Given the description of an element on the screen output the (x, y) to click on. 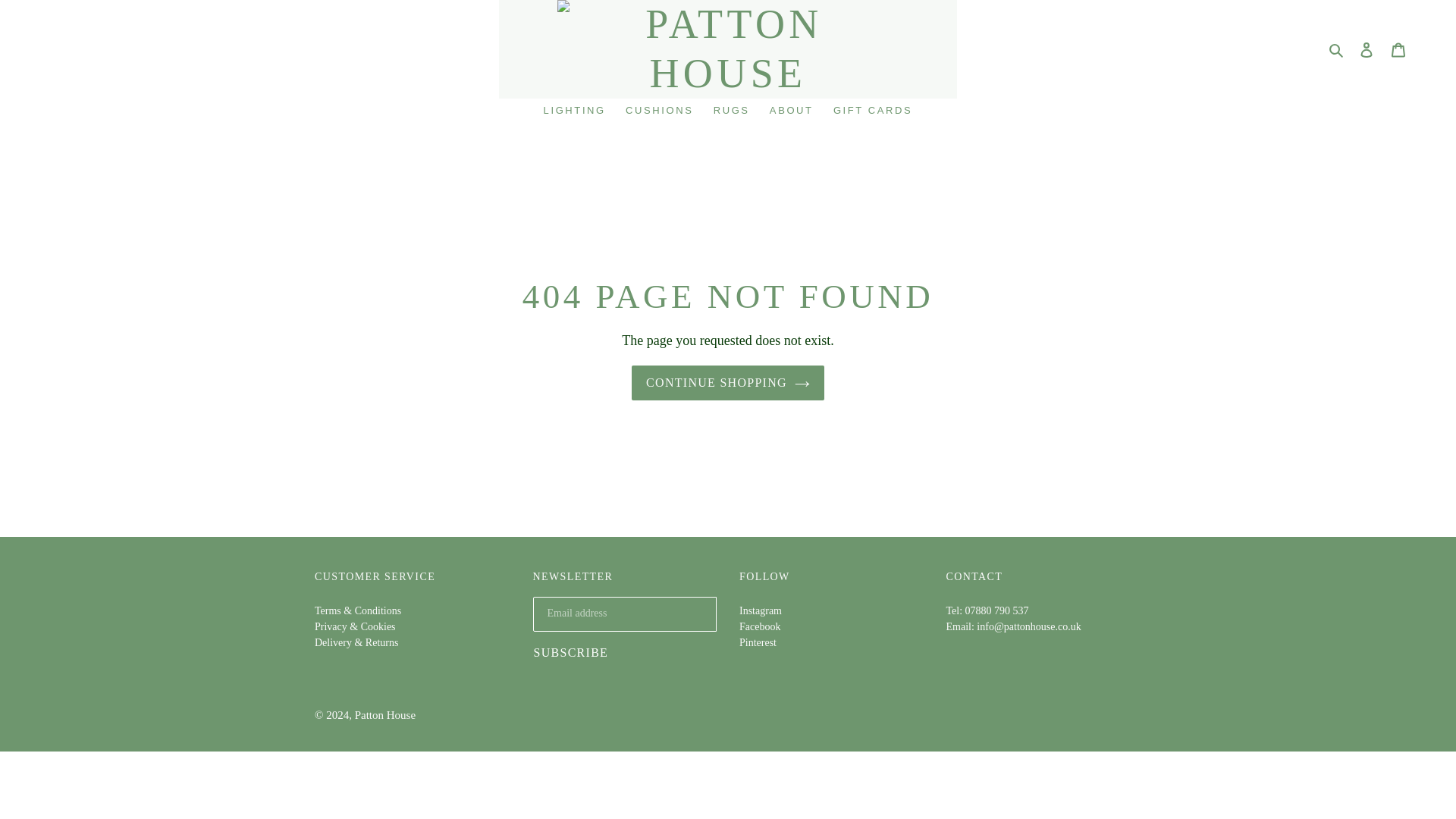
RUGS (731, 111)
CONTINUE SHOPPING (727, 382)
LIGHTING (573, 111)
ABOUT (791, 111)
GIFT CARDS (872, 111)
Search (1337, 48)
Cart (1397, 48)
Log in (1366, 48)
CUSHIONS (658, 111)
